Given the description of an element on the screen output the (x, y) to click on. 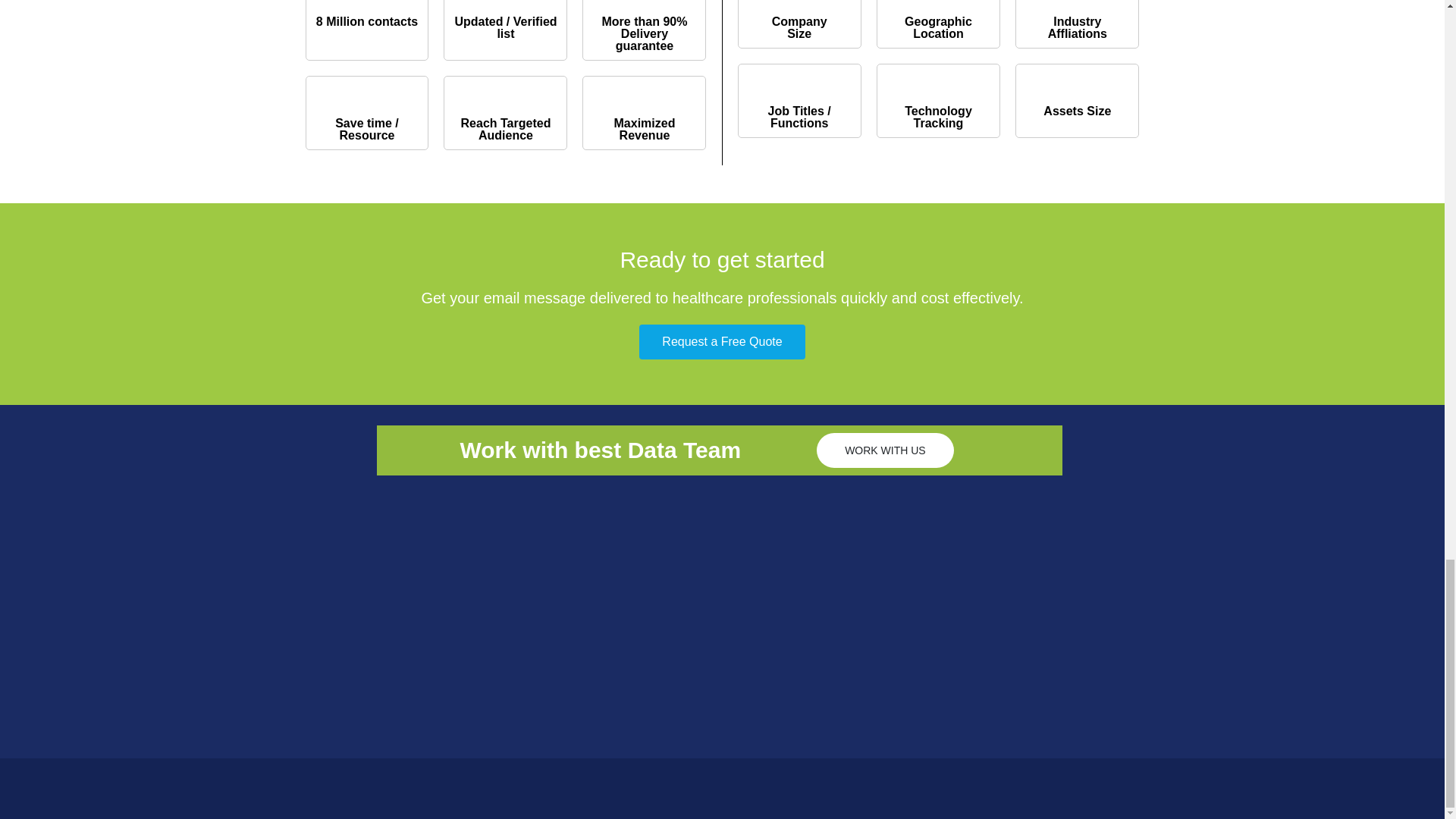
folder (367, 0)
